Given the description of an element on the screen output the (x, y) to click on. 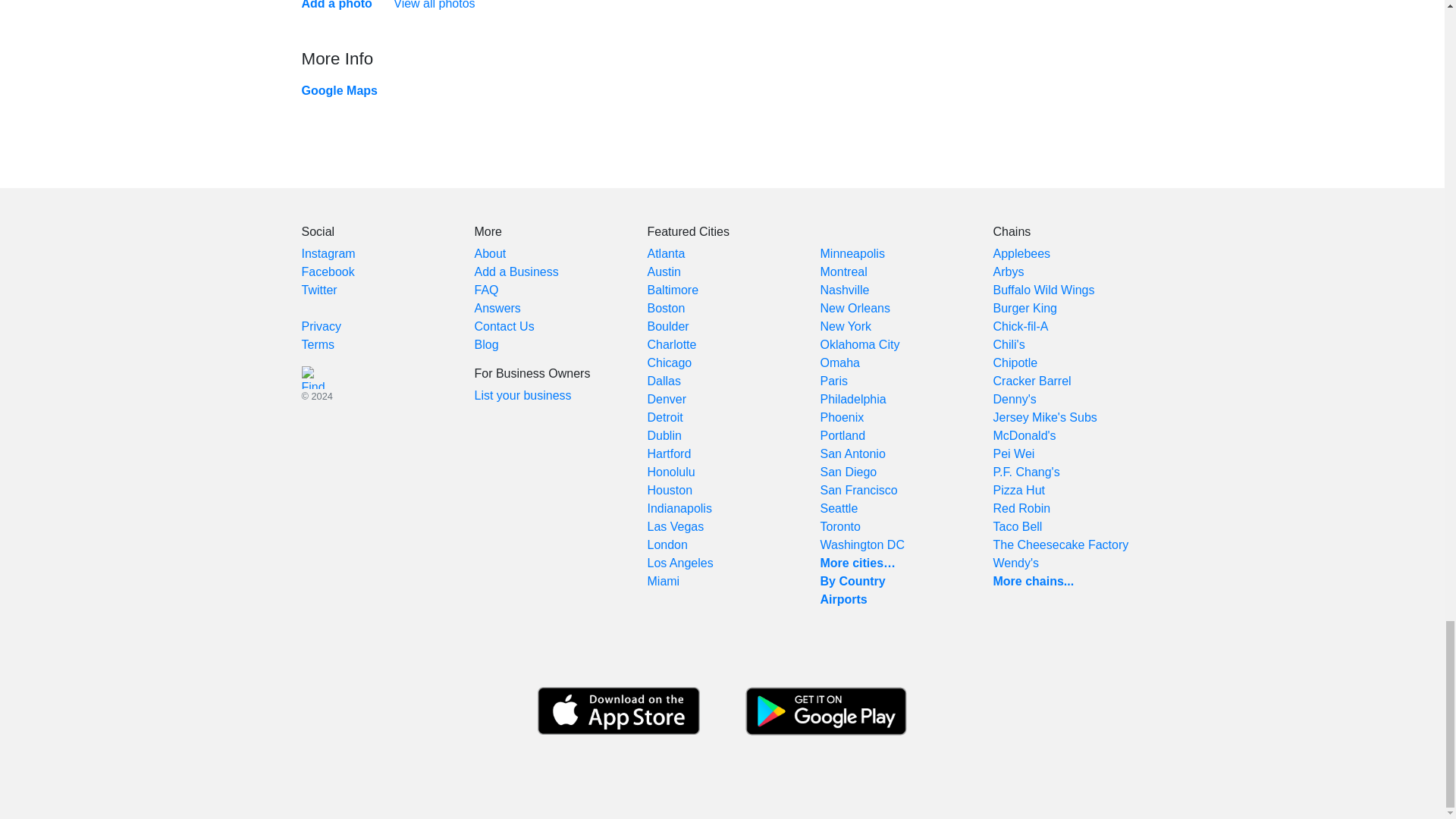
Instagram (328, 253)
View all photos (433, 4)
Privacy (320, 326)
Google Maps (339, 90)
Add a photo (336, 4)
Terms (317, 344)
Facebook (328, 271)
Twitter (319, 289)
